Given the description of an element on the screen output the (x, y) to click on. 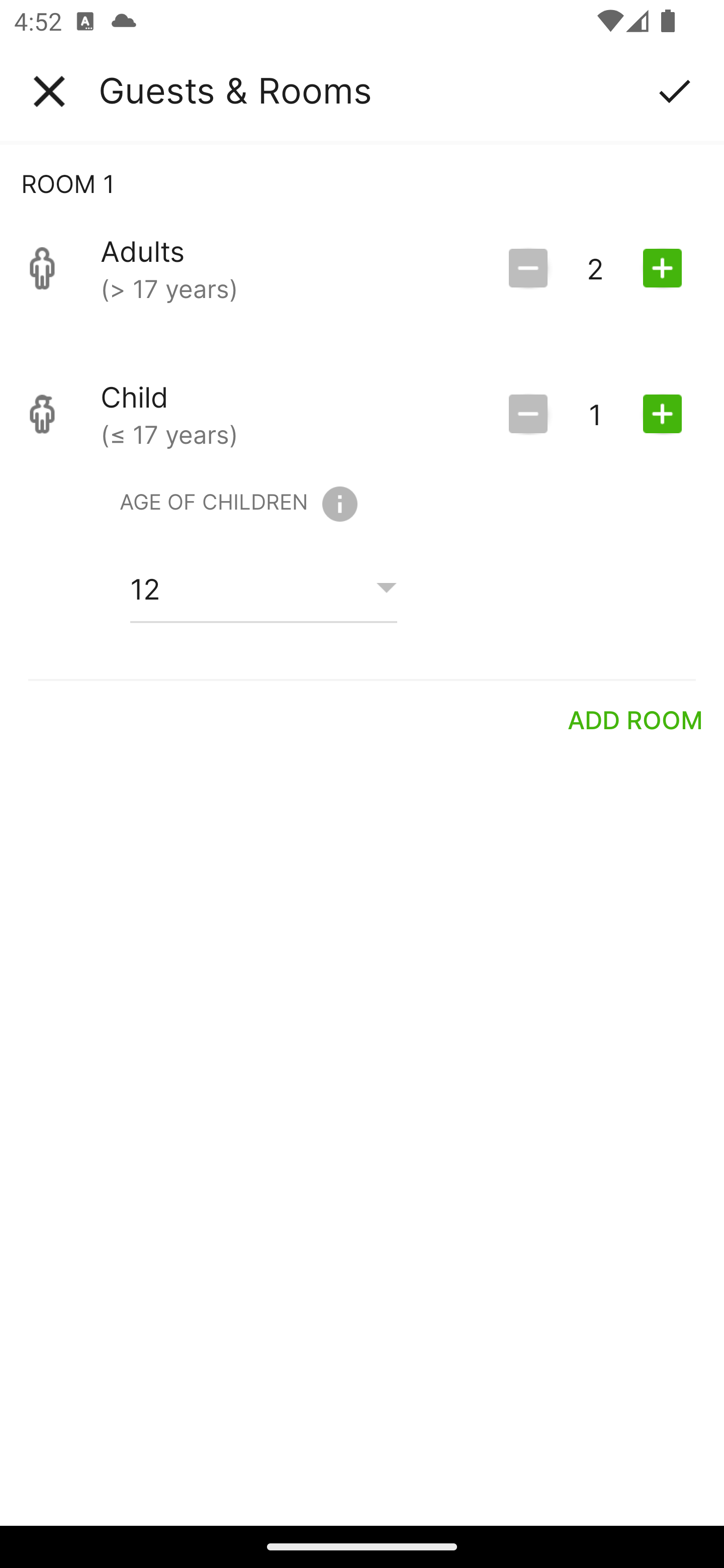
AGE OF CHILDREN (238, 504)
12 (263, 588)
ADD ROOM (635, 719)
